Given the description of an element on the screen output the (x, y) to click on. 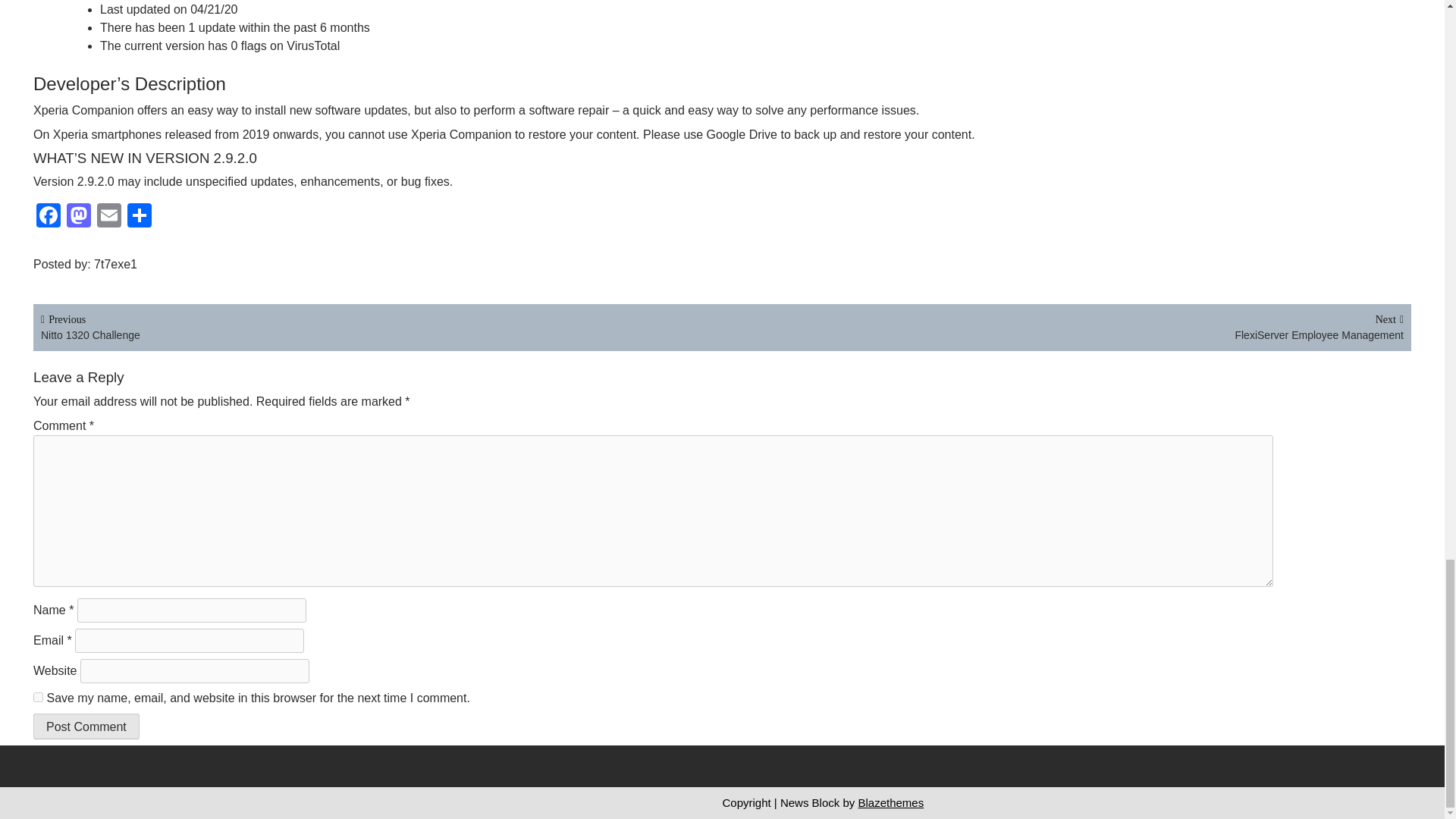
Blazethemes (890, 802)
Post Comment (381, 326)
Facebook (86, 726)
Email (48, 216)
Email (108, 216)
Facebook (108, 216)
yes (1062, 326)
Post Comment (48, 216)
